Given the description of an element on the screen output the (x, y) to click on. 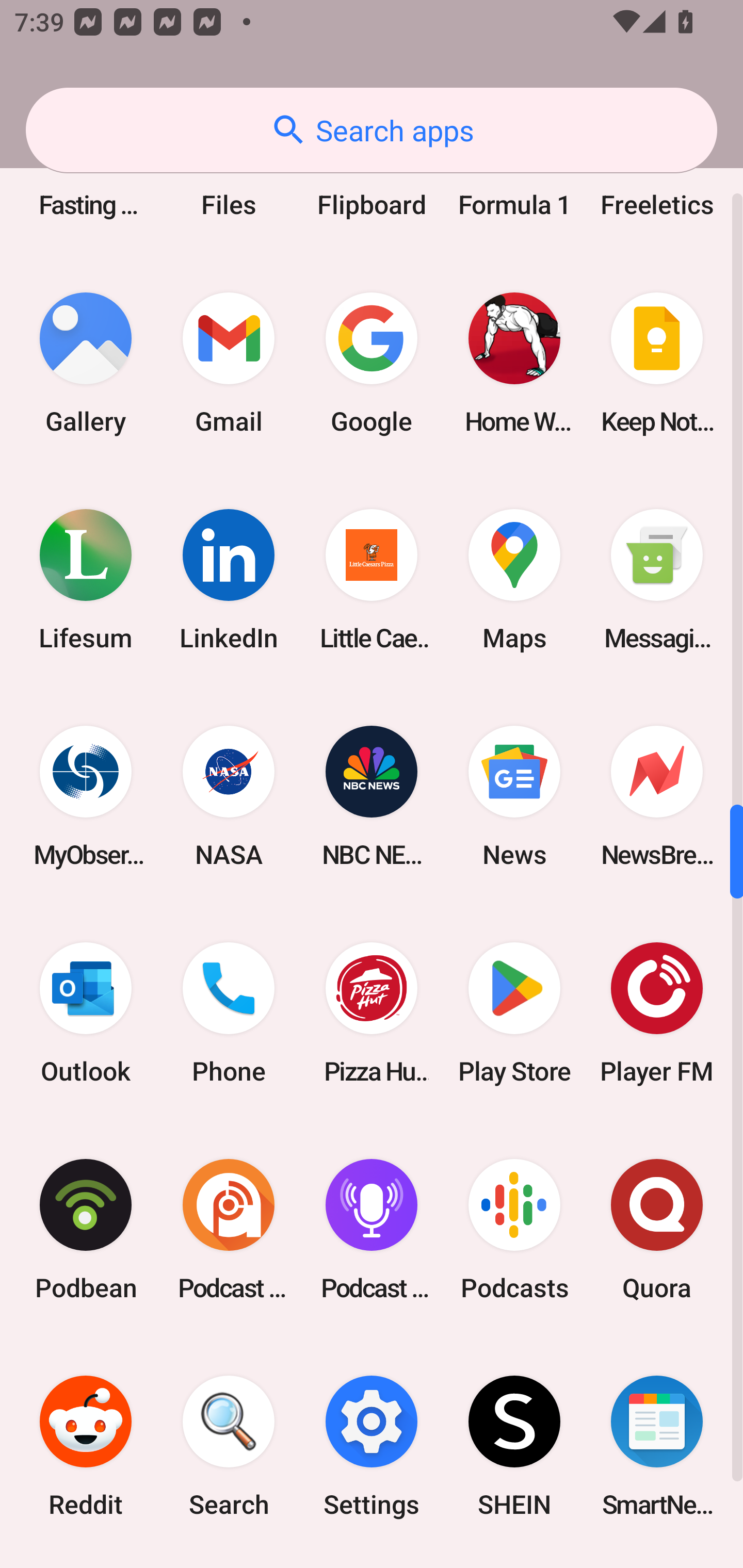
  Search apps (371, 130)
Gallery (85, 362)
Gmail (228, 362)
Google (371, 362)
Home Workout (514, 362)
Keep Notes (656, 362)
Lifesum (85, 579)
LinkedIn (228, 579)
Little Caesars Pizza (371, 579)
Maps (514, 579)
Messaging (656, 579)
MyObservatory (85, 796)
NASA (228, 796)
NBC NEWS (371, 796)
News (514, 796)
NewsBreak (656, 796)
Outlook (85, 1012)
Phone (228, 1012)
Pizza Hut HK & Macau (371, 1012)
Play Store (514, 1012)
Player FM (656, 1012)
Podbean (85, 1229)
Podcast Addict (228, 1229)
Podcast Player (371, 1229)
Podcasts (514, 1229)
Quora (656, 1229)
Reddit (85, 1445)
Search (228, 1445)
Settings (371, 1445)
SHEIN (514, 1445)
SmartNews (656, 1445)
